Given the description of an element on the screen output the (x, y) to click on. 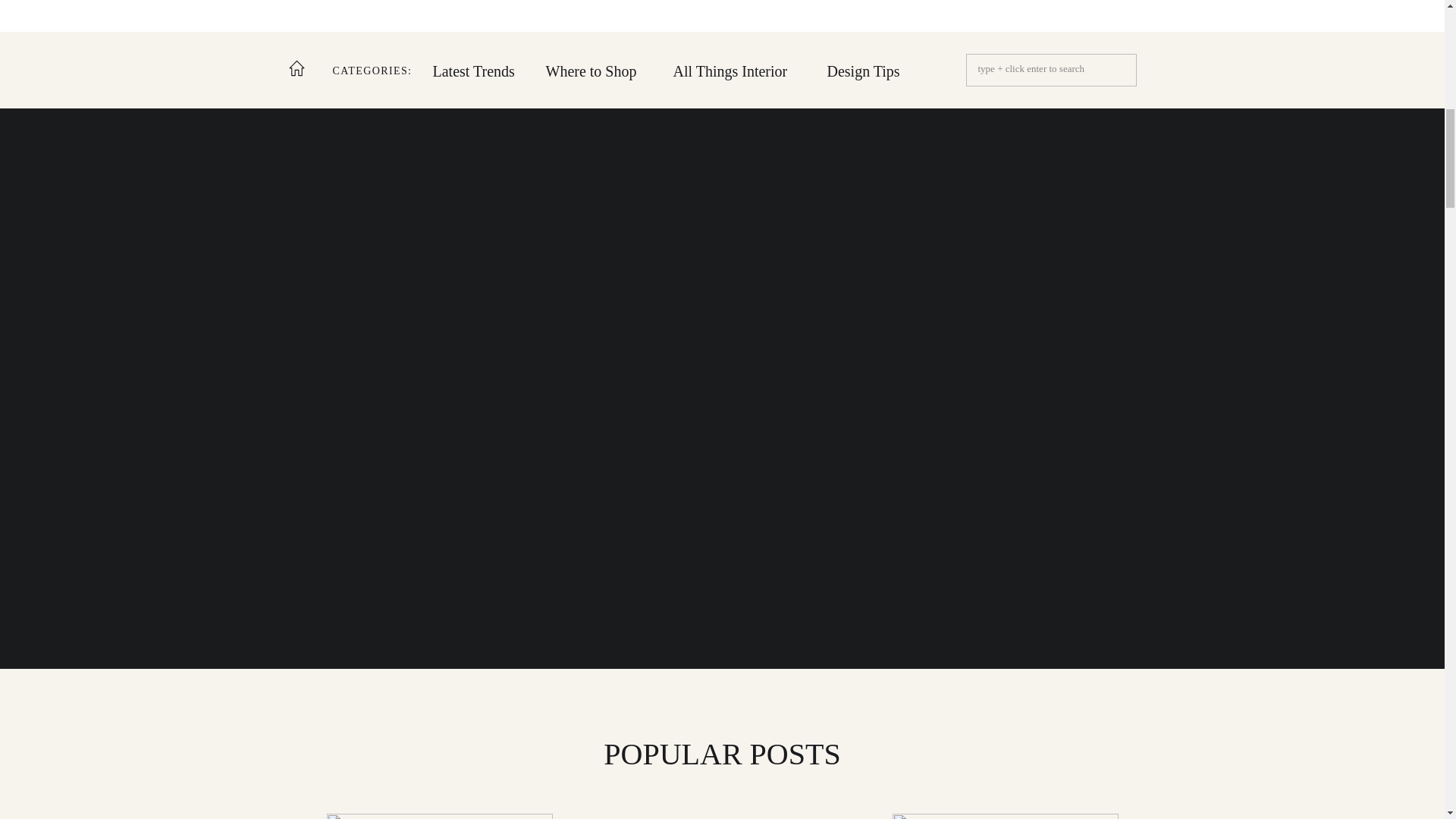
Where to Shop (600, 71)
5 Modern and Eco-Friendly  Wallpaper Companies (438, 816)
Design Tips (869, 71)
Latest Trends (478, 71)
All Things Interior  (742, 71)
The Pop Art of Your Dreams (722, 816)
Break Up With Ikea (1004, 816)
